Given the description of an element on the screen output the (x, y) to click on. 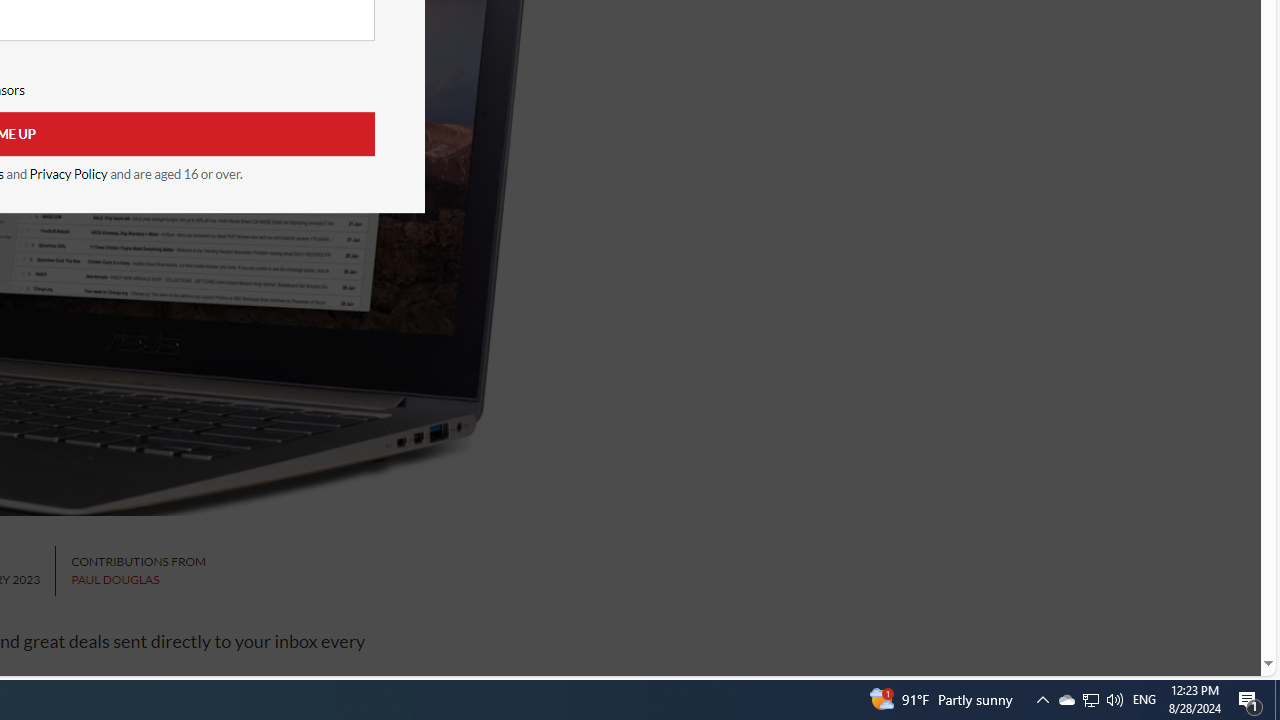
PAUL DOUGLAS (115, 579)
Privacy Policy (68, 174)
